Given the description of an element on the screen output the (x, y) to click on. 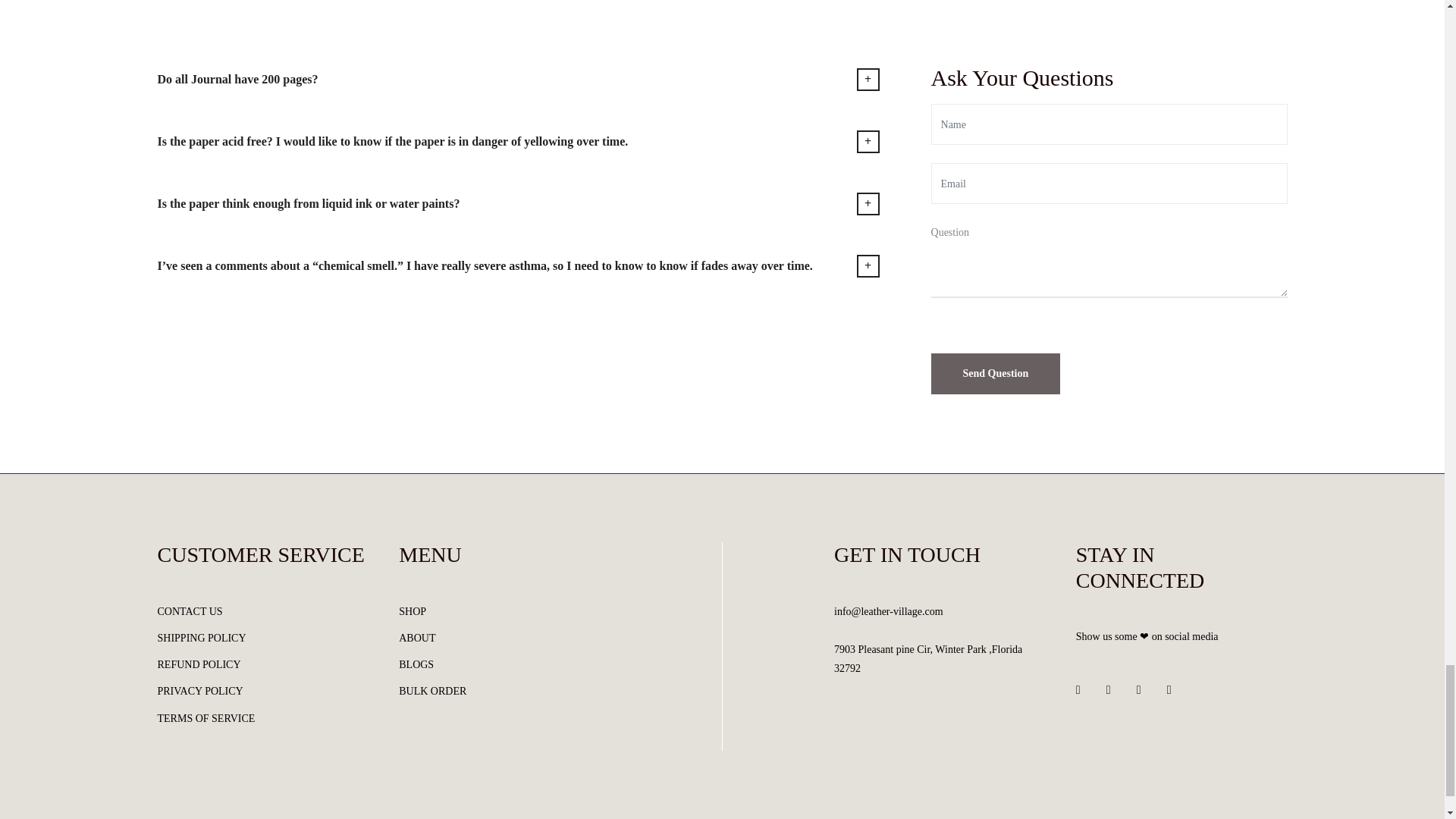
Send question (996, 372)
